Given the description of an element on the screen output the (x, y) to click on. 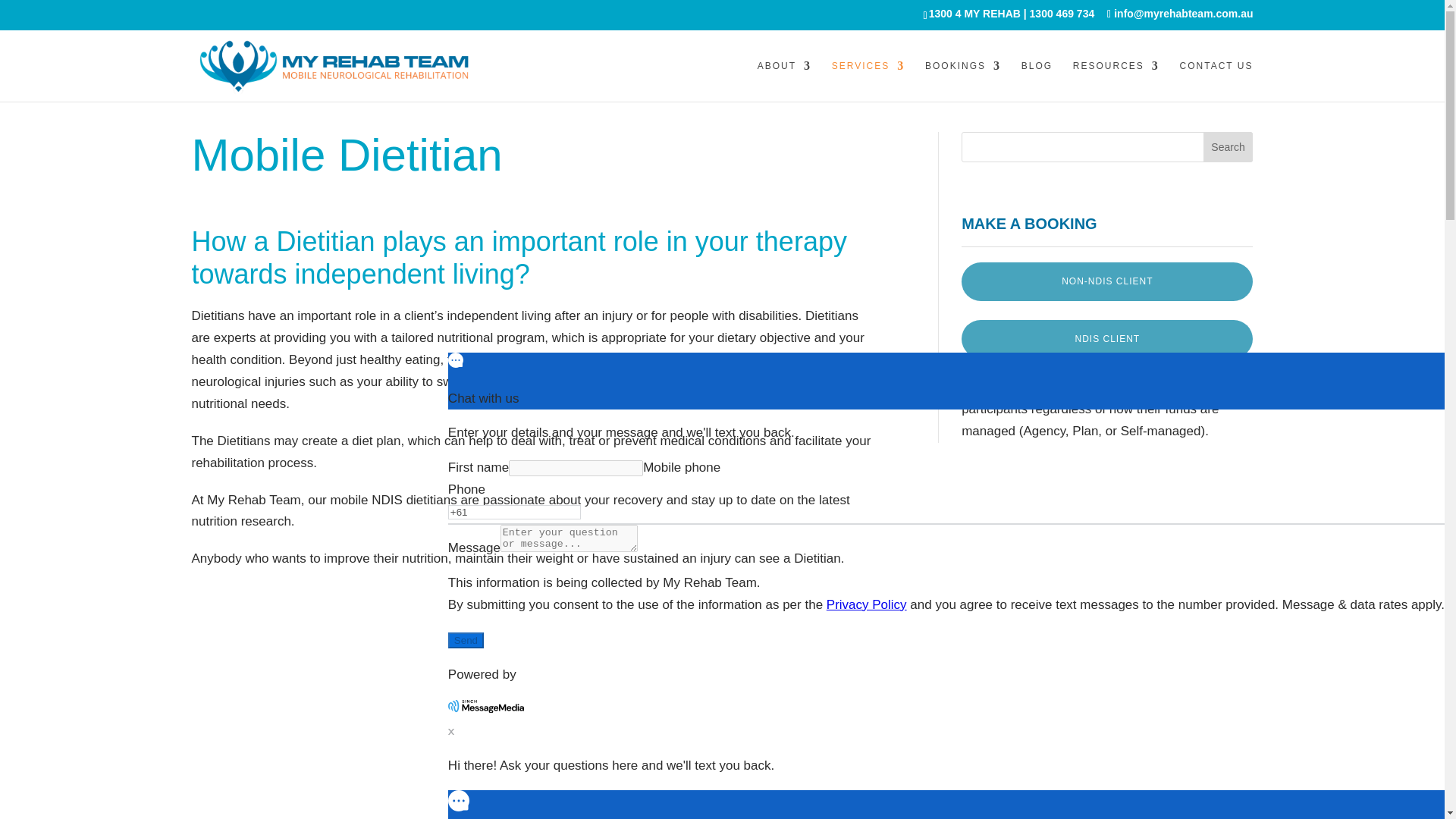
Search (1228, 146)
BLOG (1037, 80)
BOOKINGS (962, 80)
SERVICES (867, 80)
1300 4 MY REHAB (974, 13)
RESOURCES (1115, 80)
ABOUT (783, 80)
1300 469 734 (1061, 13)
CONTACT US (1216, 80)
